Given the description of an element on the screen output the (x, y) to click on. 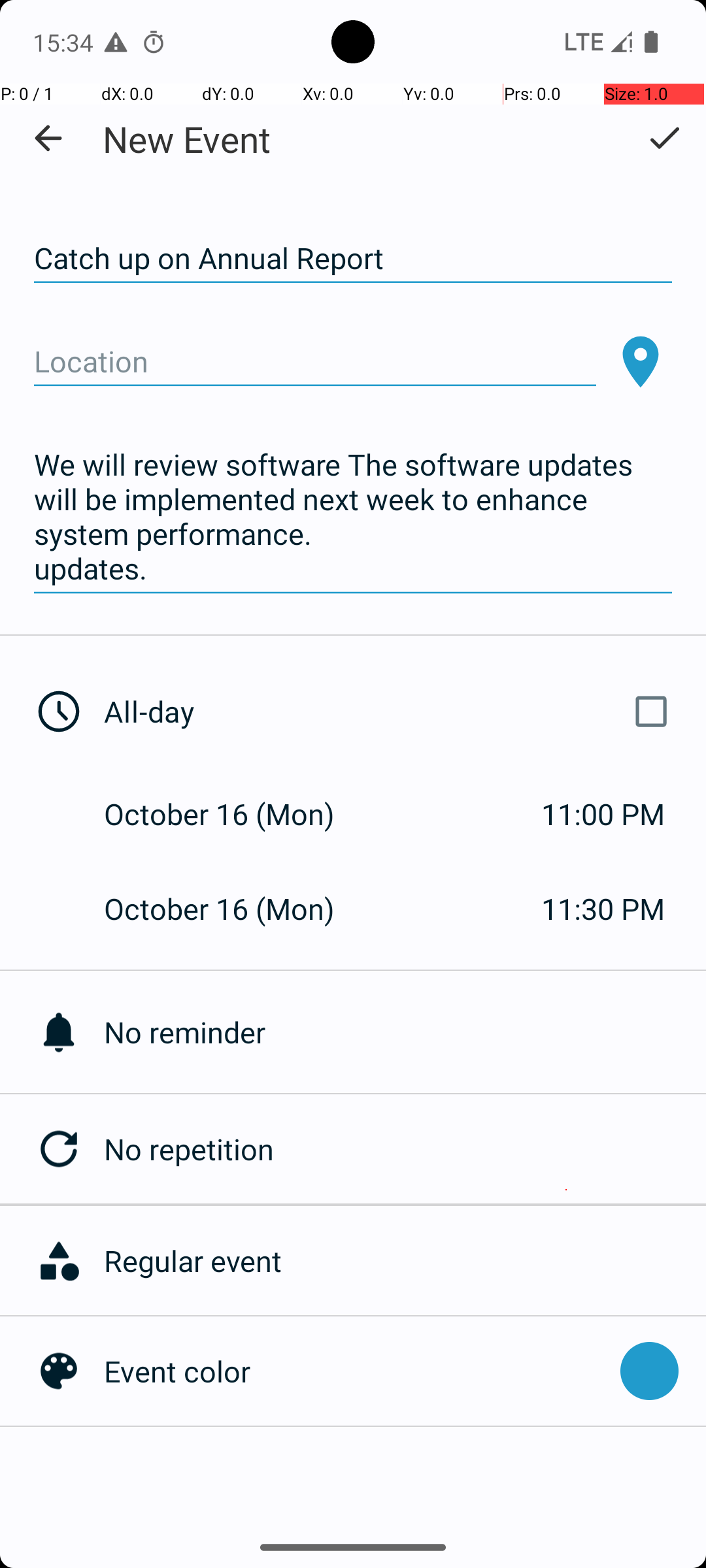
Catch up on Annual Report Element type: android.widget.EditText (352, 258)
We will review software The software updates will be implemented next week to enhance system performance.
updates. Element type: android.widget.EditText (352, 516)
October 16 (Mon) Element type: android.widget.TextView (232, 813)
11:00 PM Element type: android.widget.TextView (602, 813)
11:30 PM Element type: android.widget.TextView (602, 908)
